Given the description of an element on the screen output the (x, y) to click on. 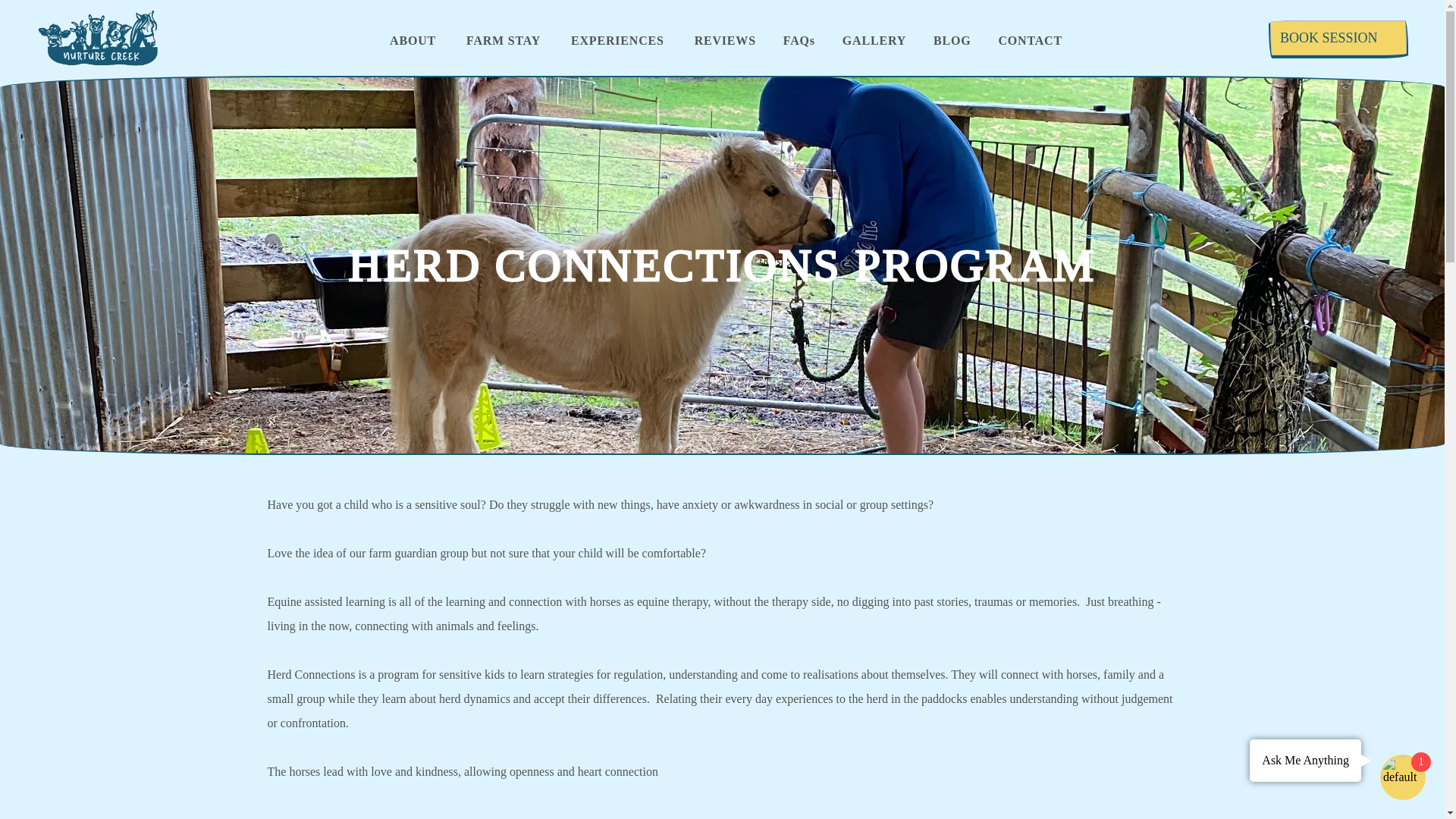
REVIEWS (724, 40)
BOOK SESSION (1337, 37)
GALLERY (874, 40)
BLOG (952, 40)
ABOUT (412, 40)
FARM STAY (502, 40)
CONTACT (1029, 40)
EXPERIENCES (616, 40)
FAQs (799, 40)
